Given the description of an element on the screen output the (x, y) to click on. 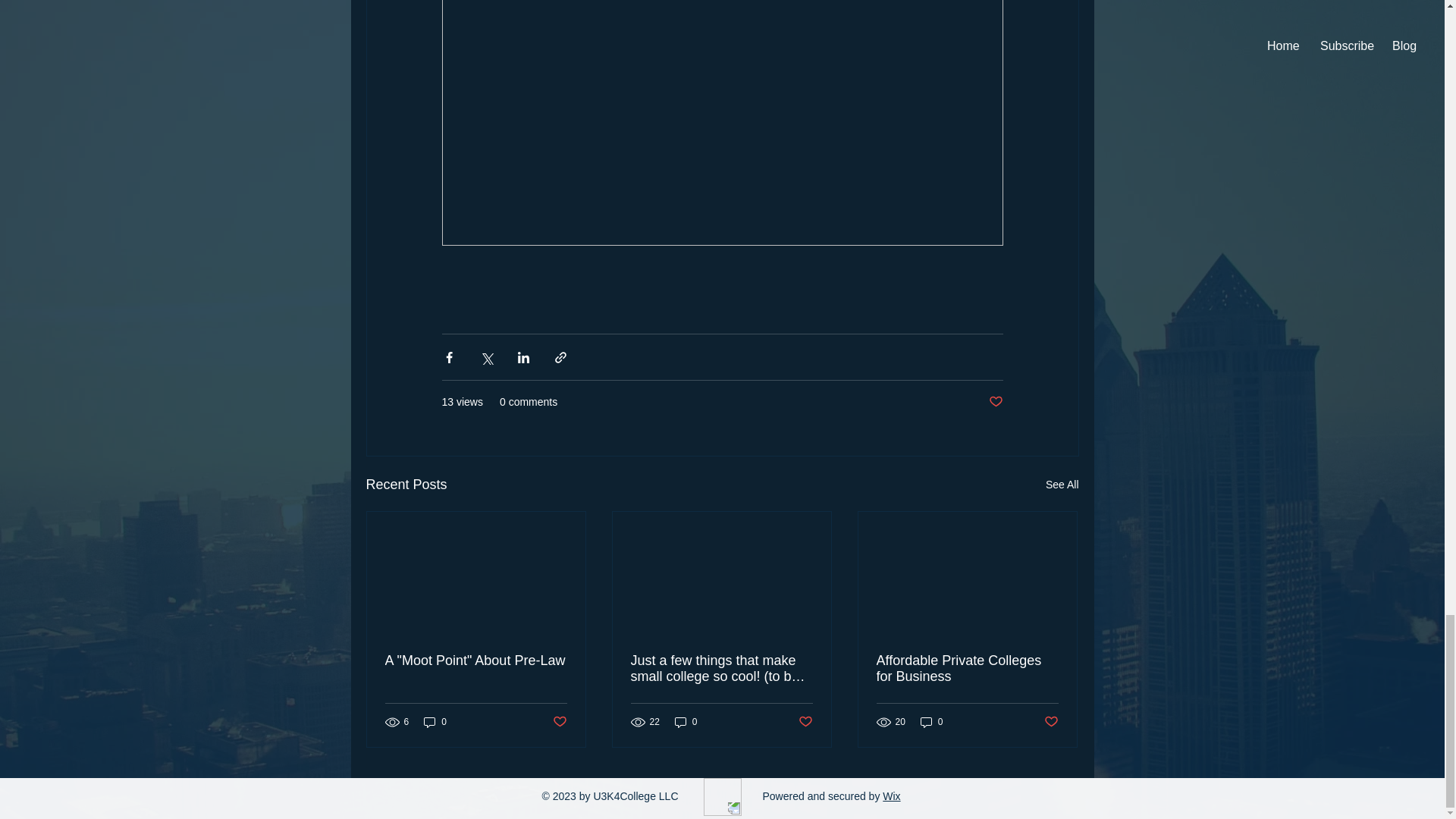
Affordable Private Colleges for Business (967, 668)
0 (931, 721)
A "Moot Point" About Pre-Law (476, 660)
0 (685, 721)
0 (435, 721)
Post not marked as liked (1050, 722)
Post not marked as liked (558, 722)
Post not marked as liked (804, 722)
Wix (890, 796)
Post not marked as liked (995, 401)
